Given the description of an element on the screen output the (x, y) to click on. 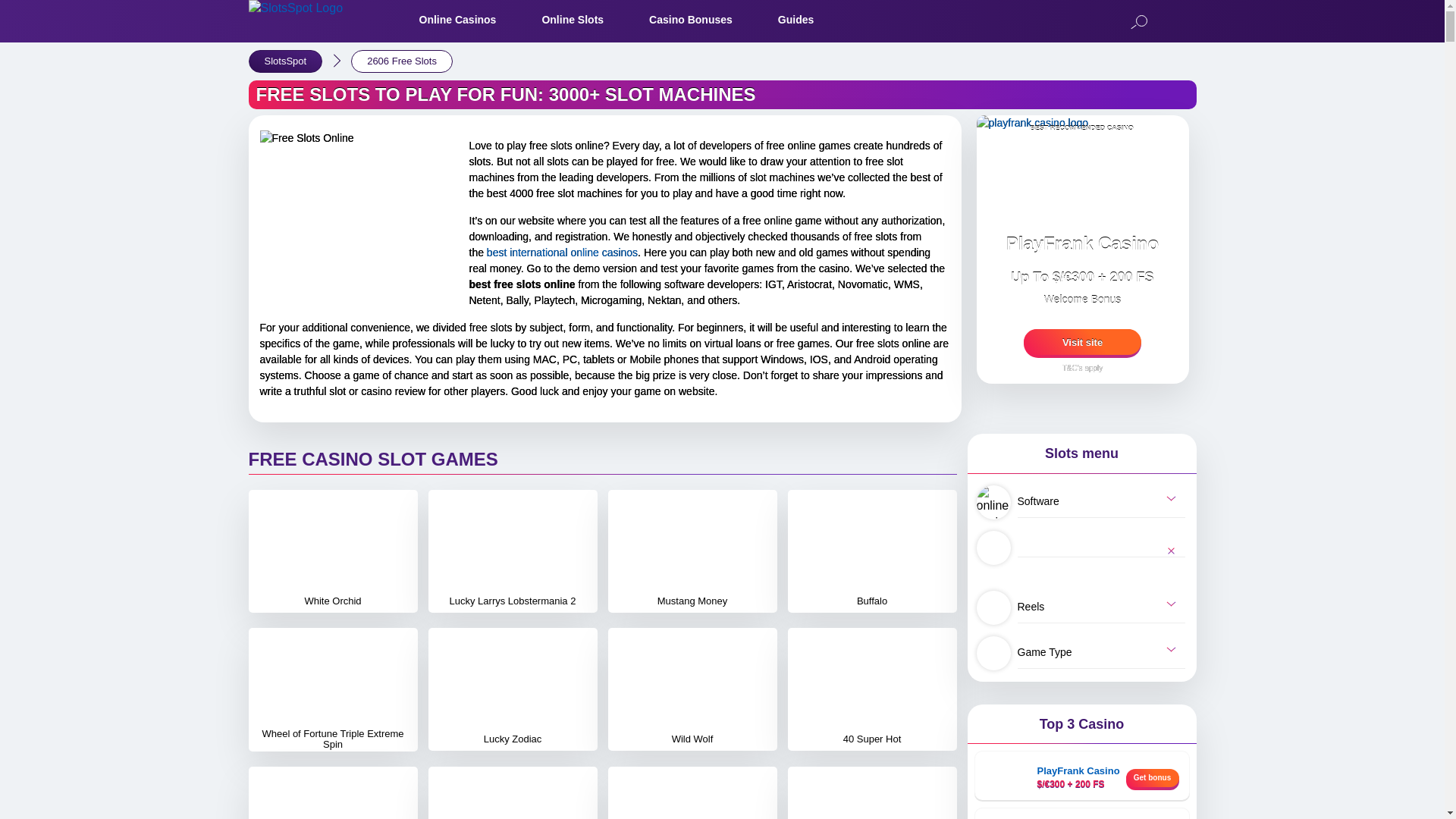
play White Orchid slot machine (332, 550)
play Wheel of Fortune Triple Extreme Spin slot machine (332, 689)
play Buffalo slot machine (872, 550)
play Lucky Zodiac slot machine (512, 689)
Online Slots (572, 19)
play Lovely Lady slot machine (692, 793)
Online Casinos (457, 19)
play Wild Dragon slot machine (872, 793)
play Wild Wolf slot machine (692, 689)
play Mustang Money slot machine (692, 550)
